Given the description of an element on the screen output the (x, y) to click on. 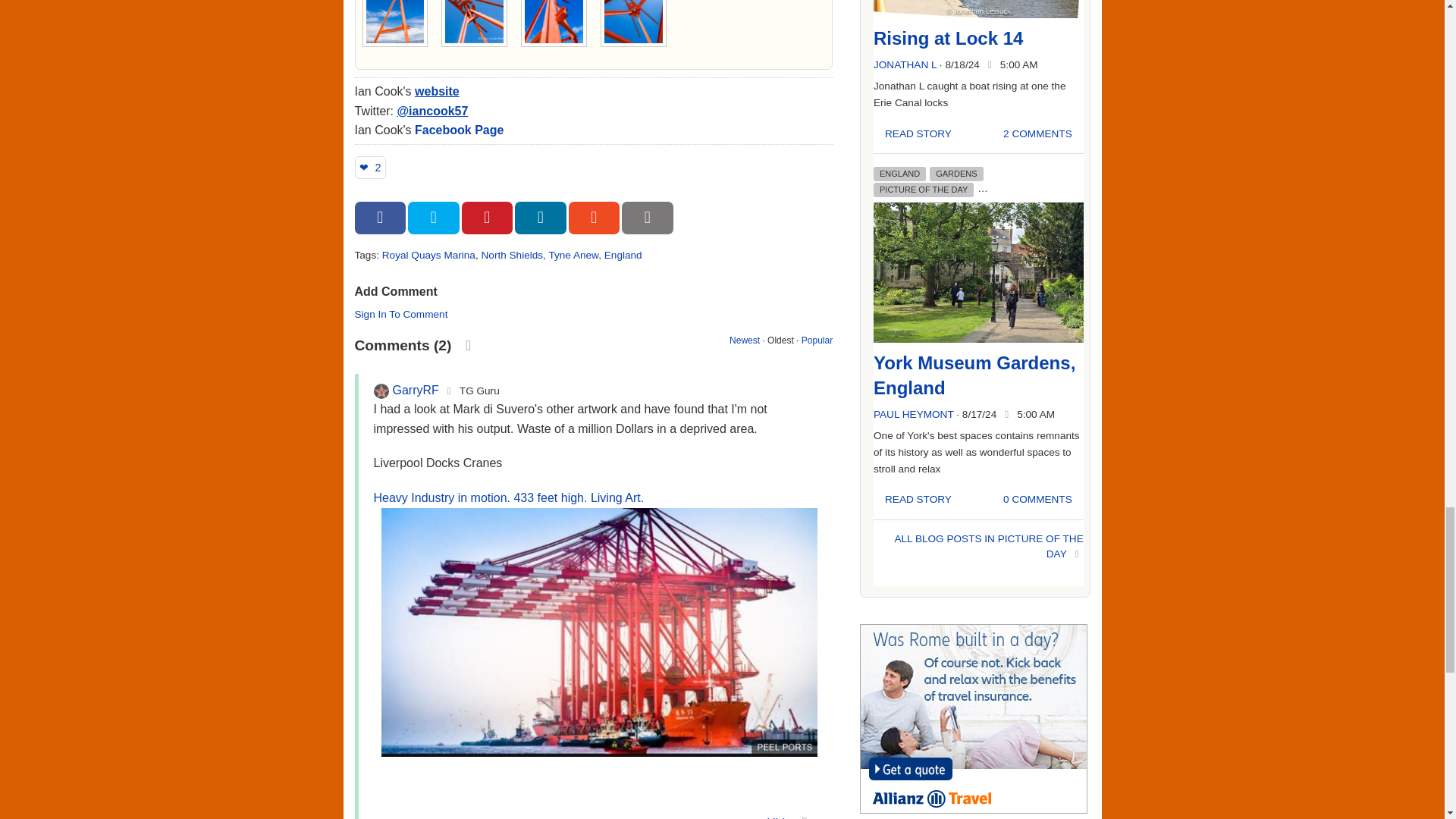
Copy Link to Blog Post (646, 217)
Share on Facebook (380, 217)
Tyne Anew, Royal Quays Marina (394, 22)
Tyne Anew, Royal Quays Marina (553, 22)
Tyne Anew, Royal Quays Marina (633, 22)
Share on LinkedIn (540, 217)
Share on Reddit (594, 217)
Tyne Anew, Royal Quays Marina (474, 22)
Share on Twitter (433, 217)
Follow to be notified about new comments to this blog post. (468, 344)
